Given the description of an element on the screen output the (x, y) to click on. 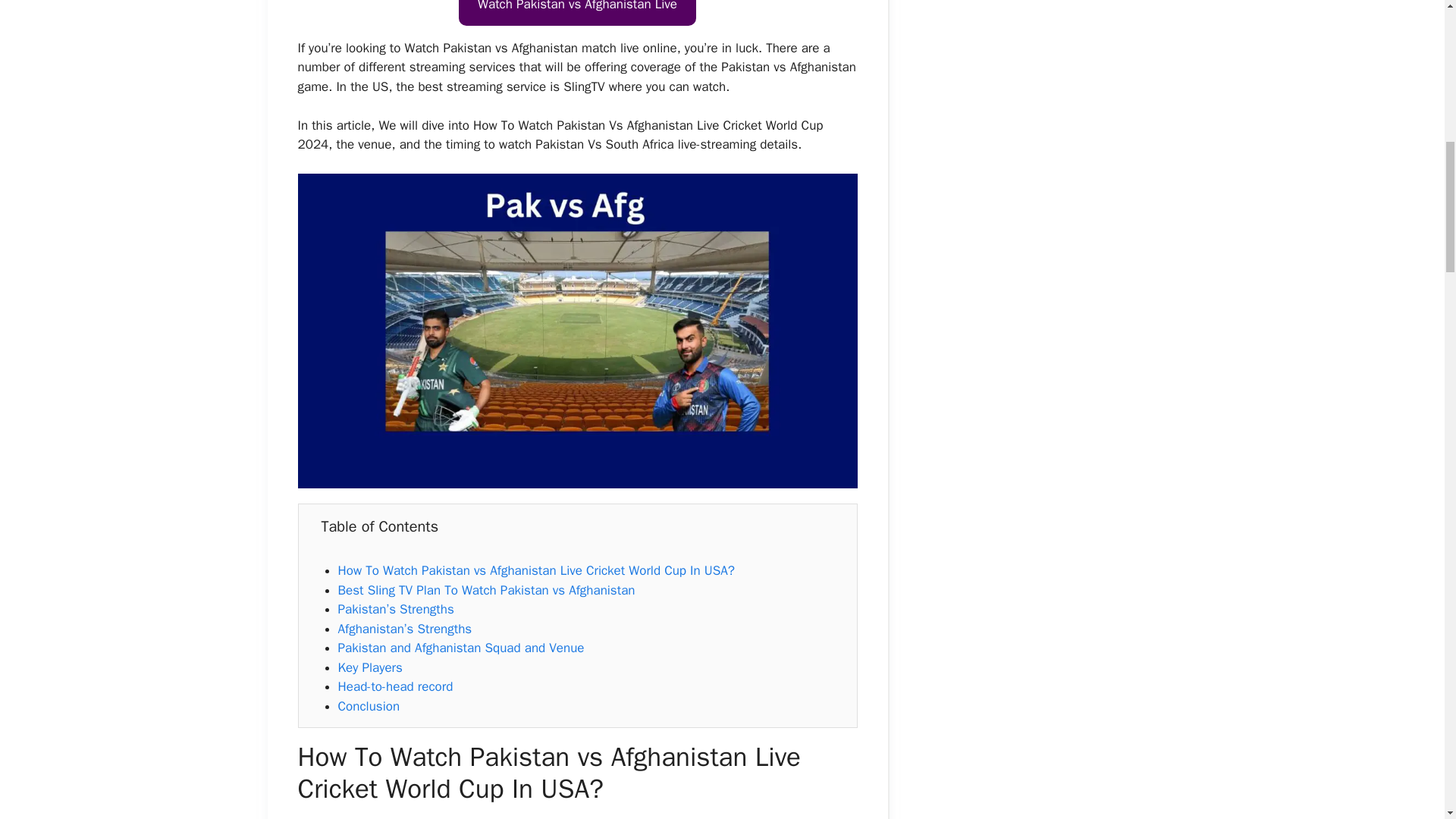
Head-to-head record (394, 686)
Watch Pakistan vs Afghanistan Live (576, 12)
Conclusion (367, 706)
Pakistan and Afghanistan Squad and Venue (461, 647)
Key Players (370, 667)
Best Sling TV Plan To Watch Pakistan vs Afghanistan (485, 590)
